Given the description of an element on the screen output the (x, y) to click on. 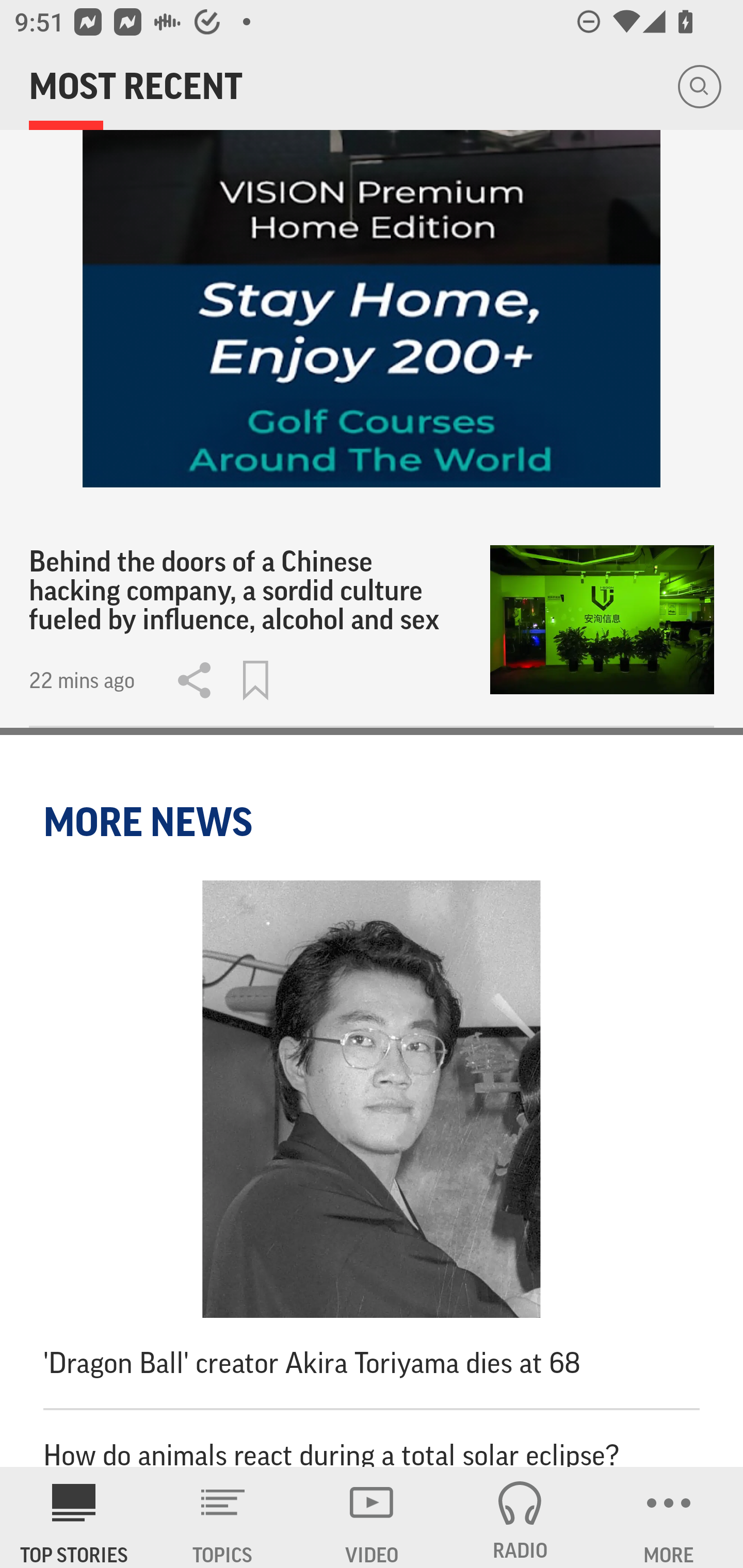
golfzonhk (371, 243)
MORE NEWS (151, 822)
'Dragon Ball' creator Akira Toriyama dies at 68 (371, 1144)
AP News TOP STORIES (74, 1517)
TOPICS (222, 1517)
VIDEO (371, 1517)
RADIO (519, 1517)
MORE (668, 1517)
